Given the description of an element on the screen output the (x, y) to click on. 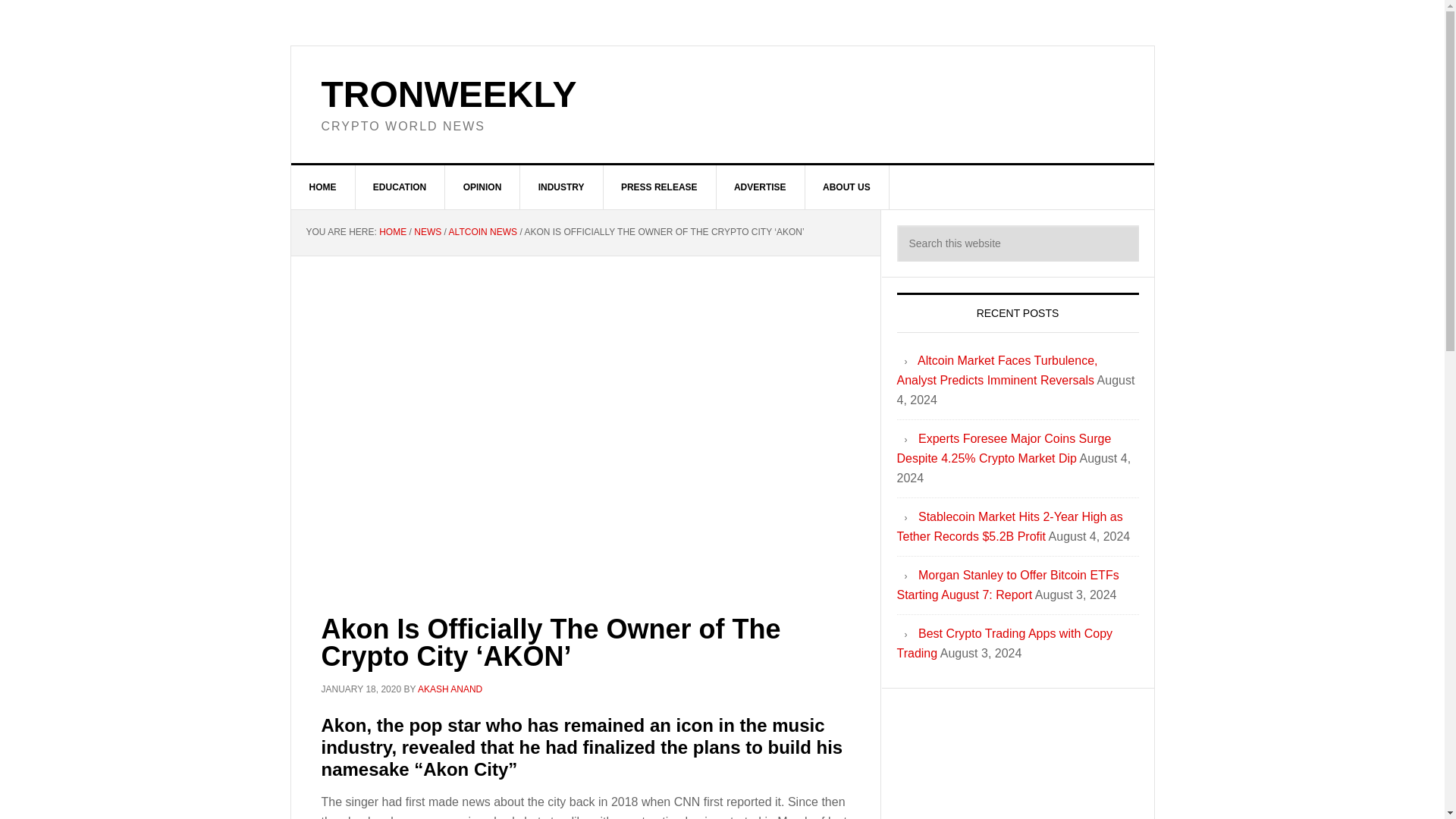
ADVERTISE (760, 187)
TRONWEEKLY (448, 94)
HOME (323, 187)
Best Crypto Trading Apps with Copy Trading (1004, 643)
AKASH ANAND (449, 688)
EDUCATION (400, 187)
ABOUT US (847, 187)
PRESS RELEASE (659, 187)
